Given the description of an element on the screen output the (x, y) to click on. 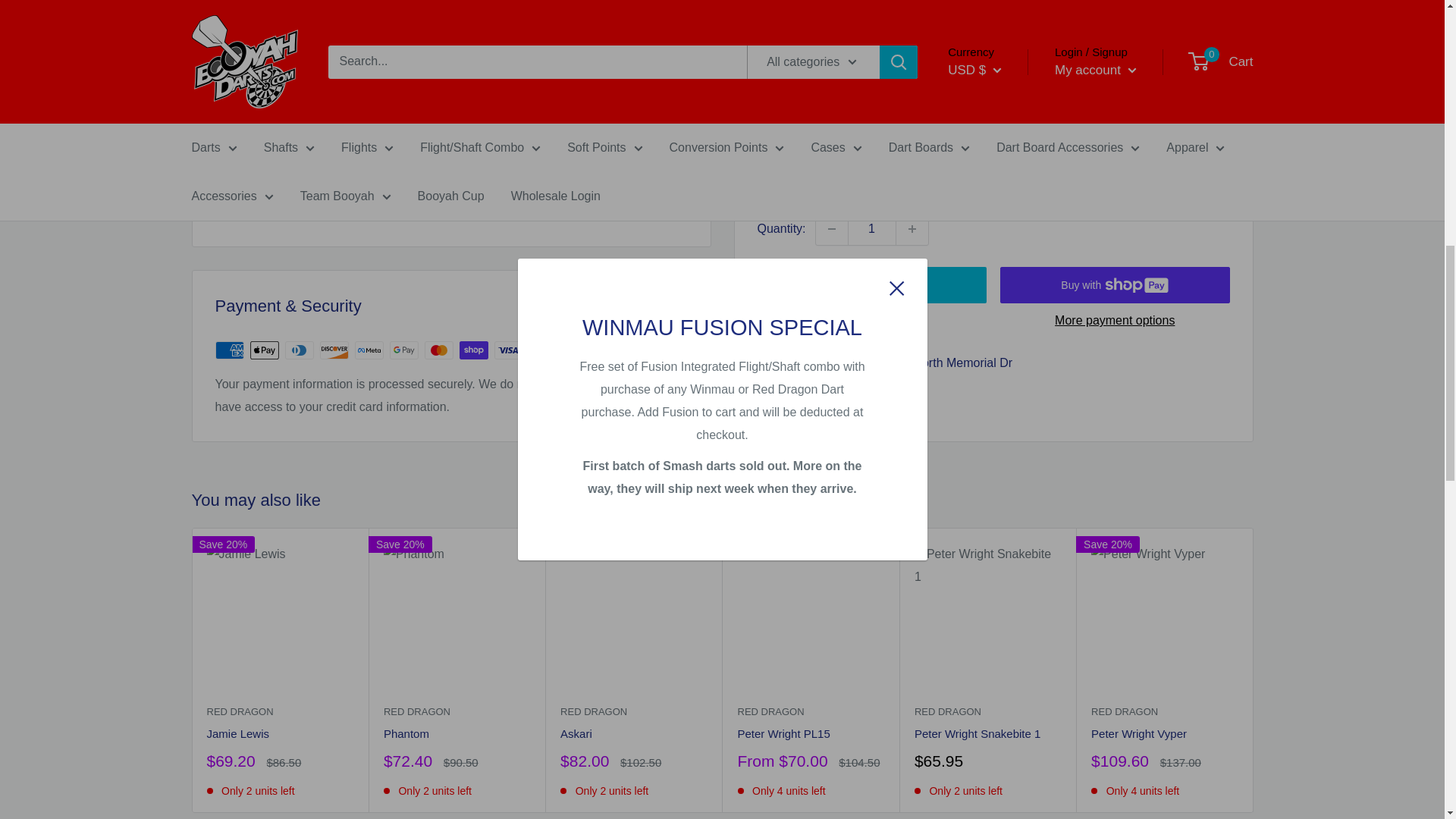
Increase quantity by 1 (912, 2)
Decrease quantity by 1 (831, 2)
1 (871, 2)
